Given the description of an element on the screen output the (x, y) to click on. 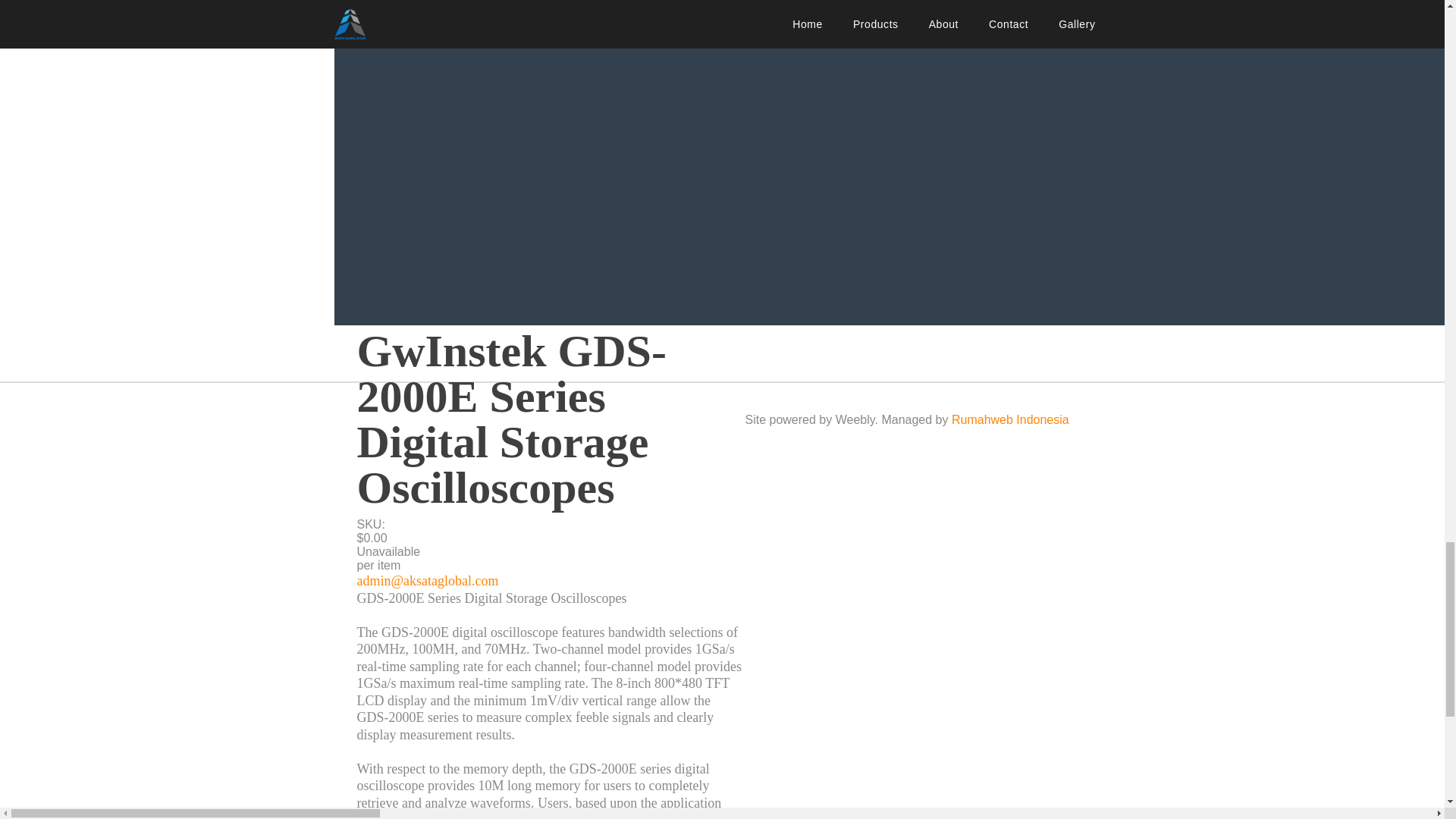
Rumahweb Indonesia (1010, 419)
